Given the description of an element on the screen output the (x, y) to click on. 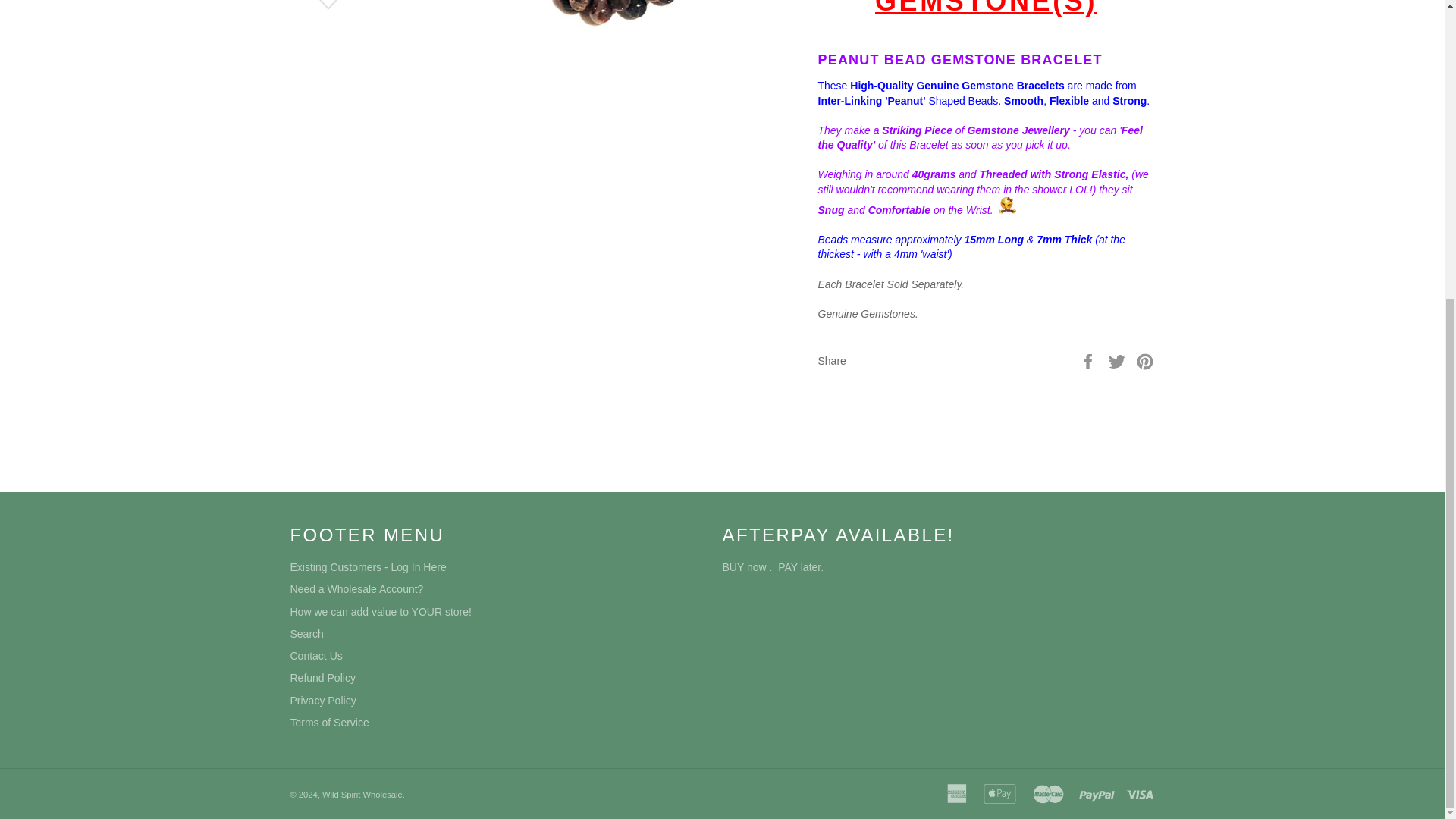
Tweet on Twitter (1118, 360)
Share on Facebook (1089, 360)
Pin on Pinterest (1144, 360)
